Given the description of an element on the screen output the (x, y) to click on. 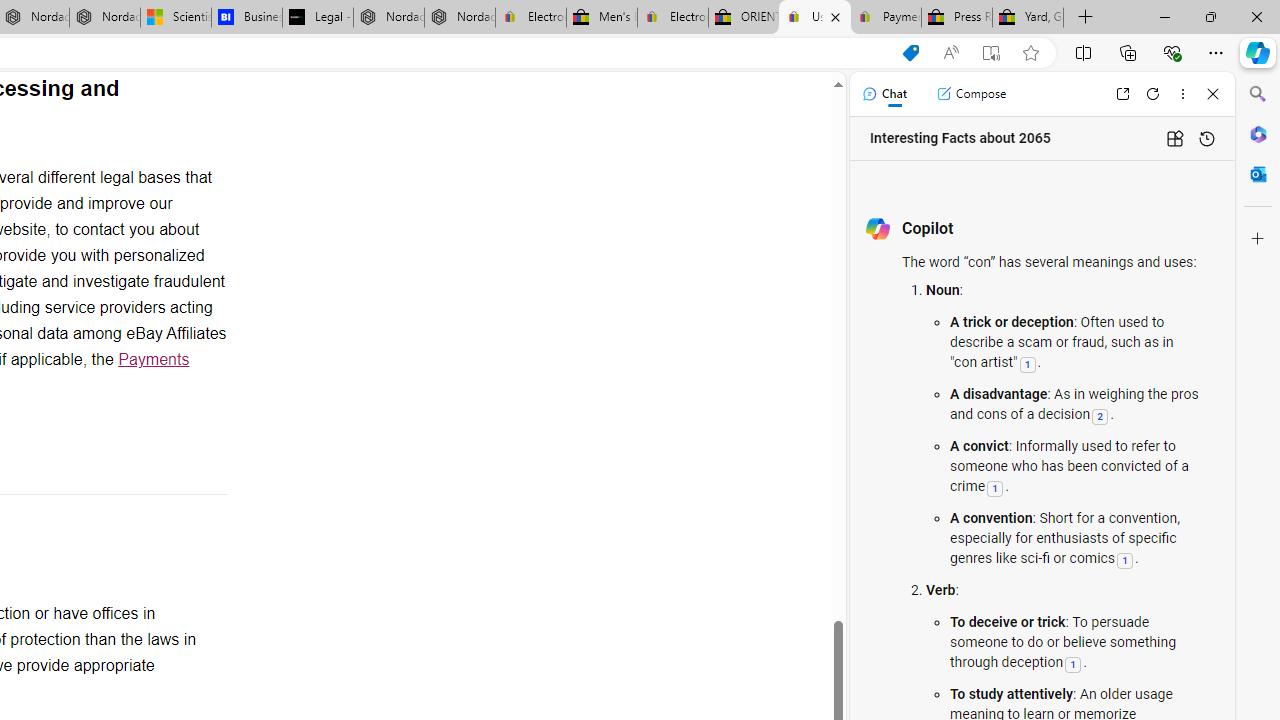
Nordace - Summer Adventures 2024 (388, 17)
This site has coupons! Shopping in Microsoft Edge (910, 53)
